Given the description of an element on the screen output the (x, y) to click on. 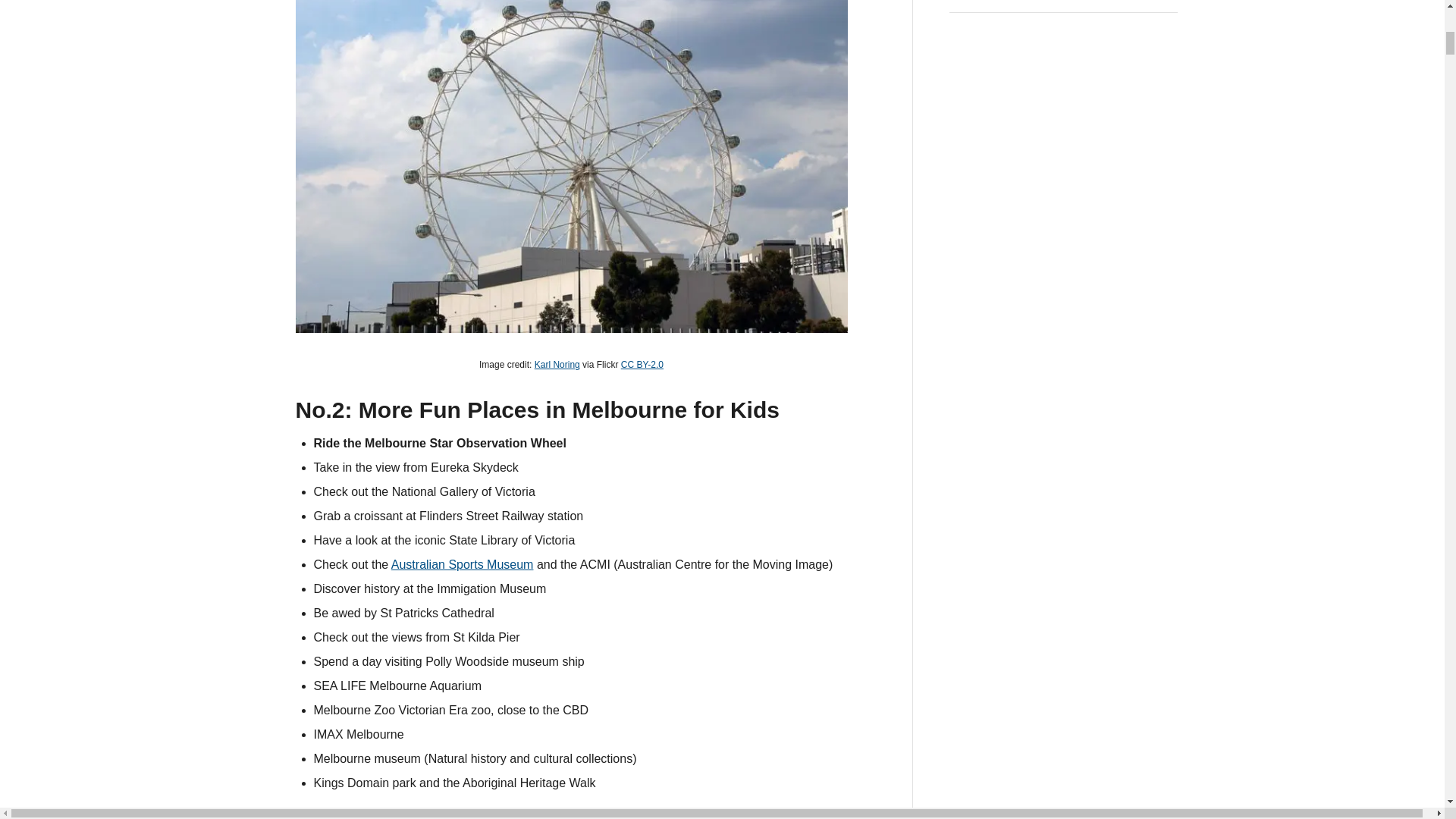
Click here (322, 818)
CC BY-2.0 (642, 364)
Karl Noring (556, 364)
Australian Sports Museum (462, 563)
